Given the description of an element on the screen output the (x, y) to click on. 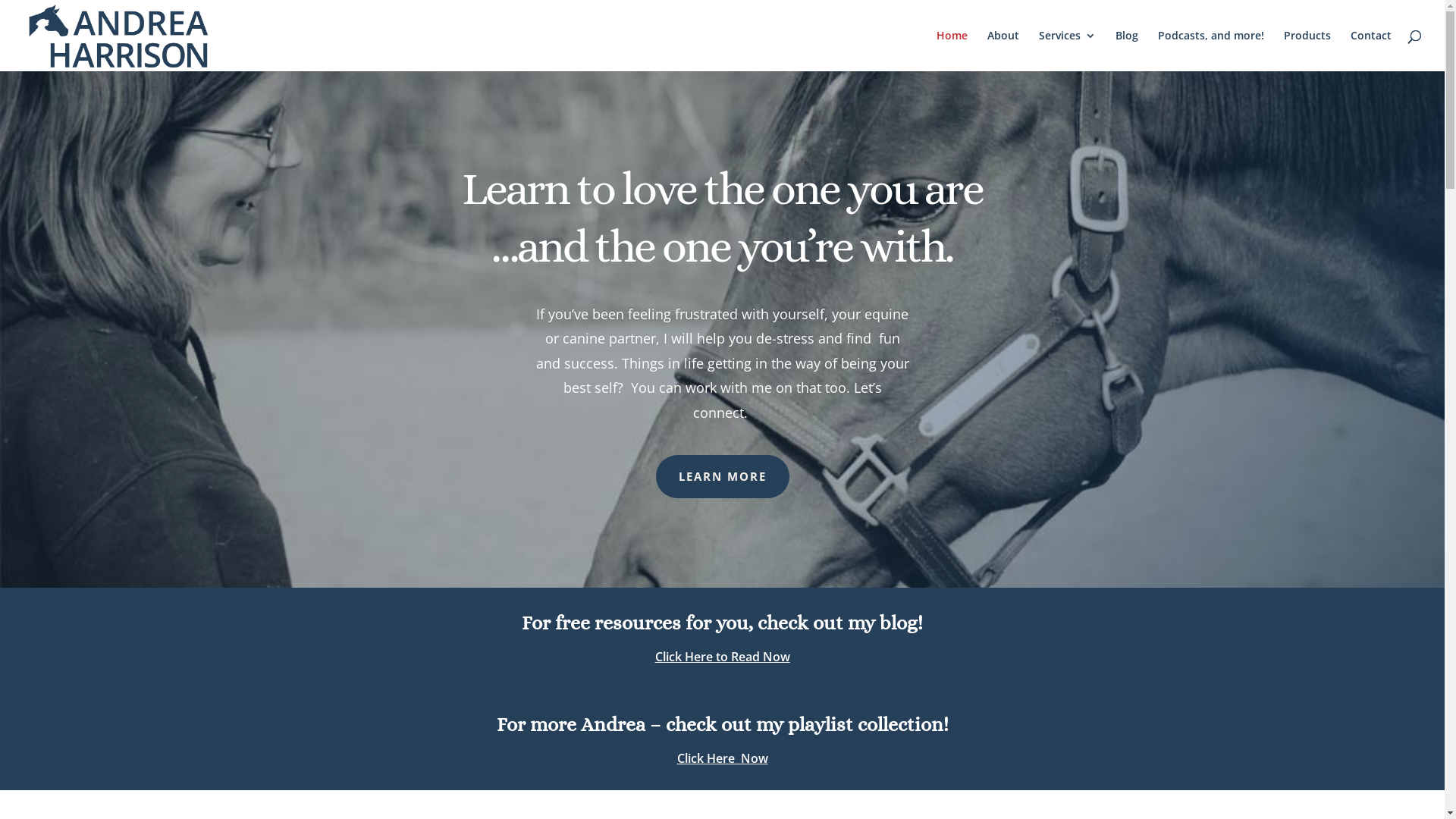
Home Element type: text (951, 50)
Click Here to Read Now Element type: text (722, 656)
About Element type: text (1003, 50)
Services Element type: text (1066, 50)
Click Here  Now Element type: text (721, 757)
Blog Element type: text (1126, 50)
Contact Element type: text (1370, 50)
Podcasts, and more! Element type: text (1210, 50)
Products Element type: text (1306, 50)
LEARN MORE Element type: text (721, 476)
